Given the description of an element on the screen output the (x, y) to click on. 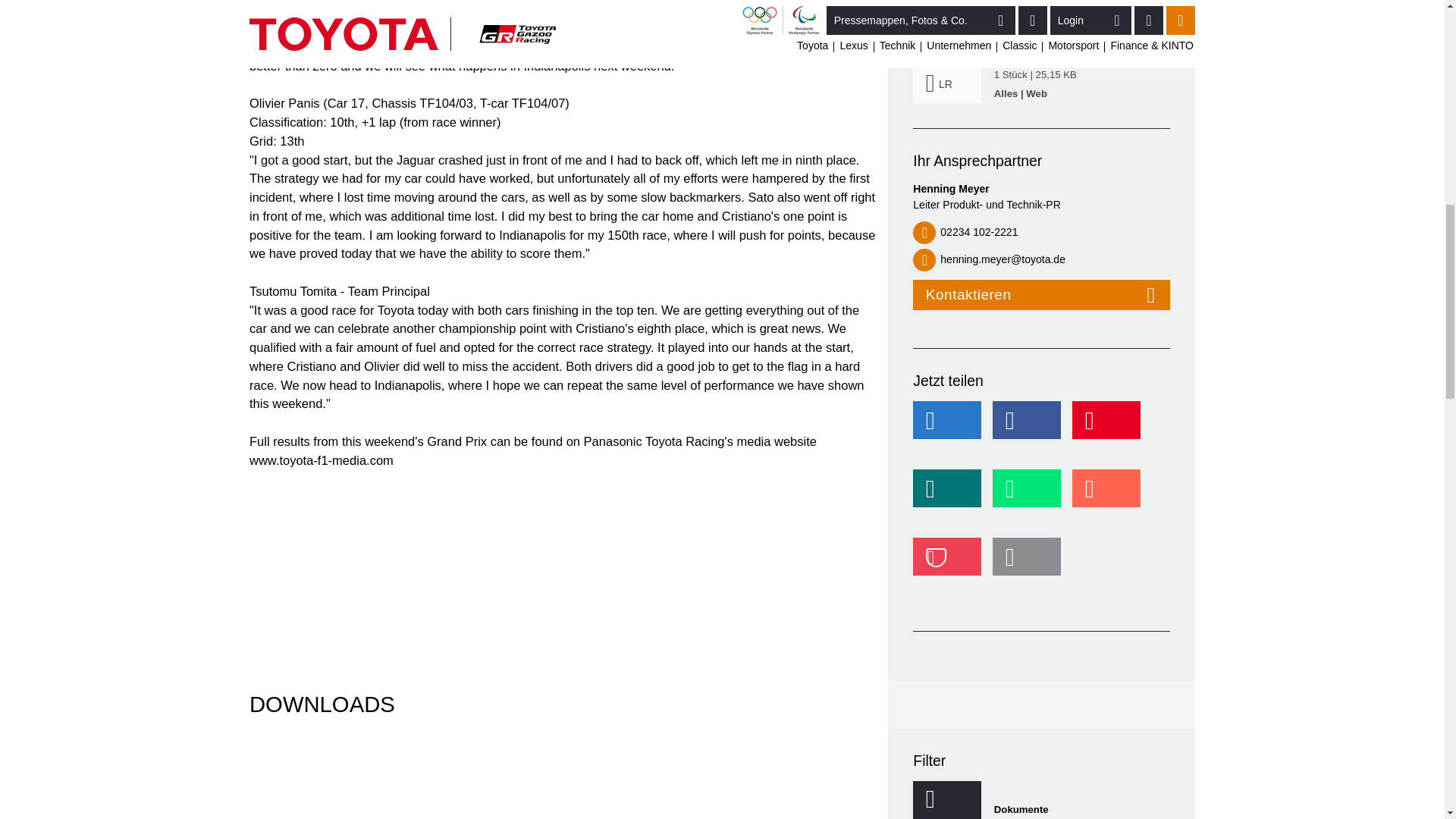
Bei XING teilen (951, 495)
Bei AddThis teilen (1110, 495)
Kontaktieren (1041, 295)
www.toyota-f1-media.com (320, 459)
Per E-Mail versenden (1031, 563)
Bei Pinterest pinnen (1110, 427)
02234 102-2221 (1041, 232)
Bei Whatsapp teilen (1031, 495)
In Pocket speichern (951, 563)
Bei LinkedIn teilen (951, 427)
Bei Facebook teilen (1031, 427)
